Given the description of an element on the screen output the (x, y) to click on. 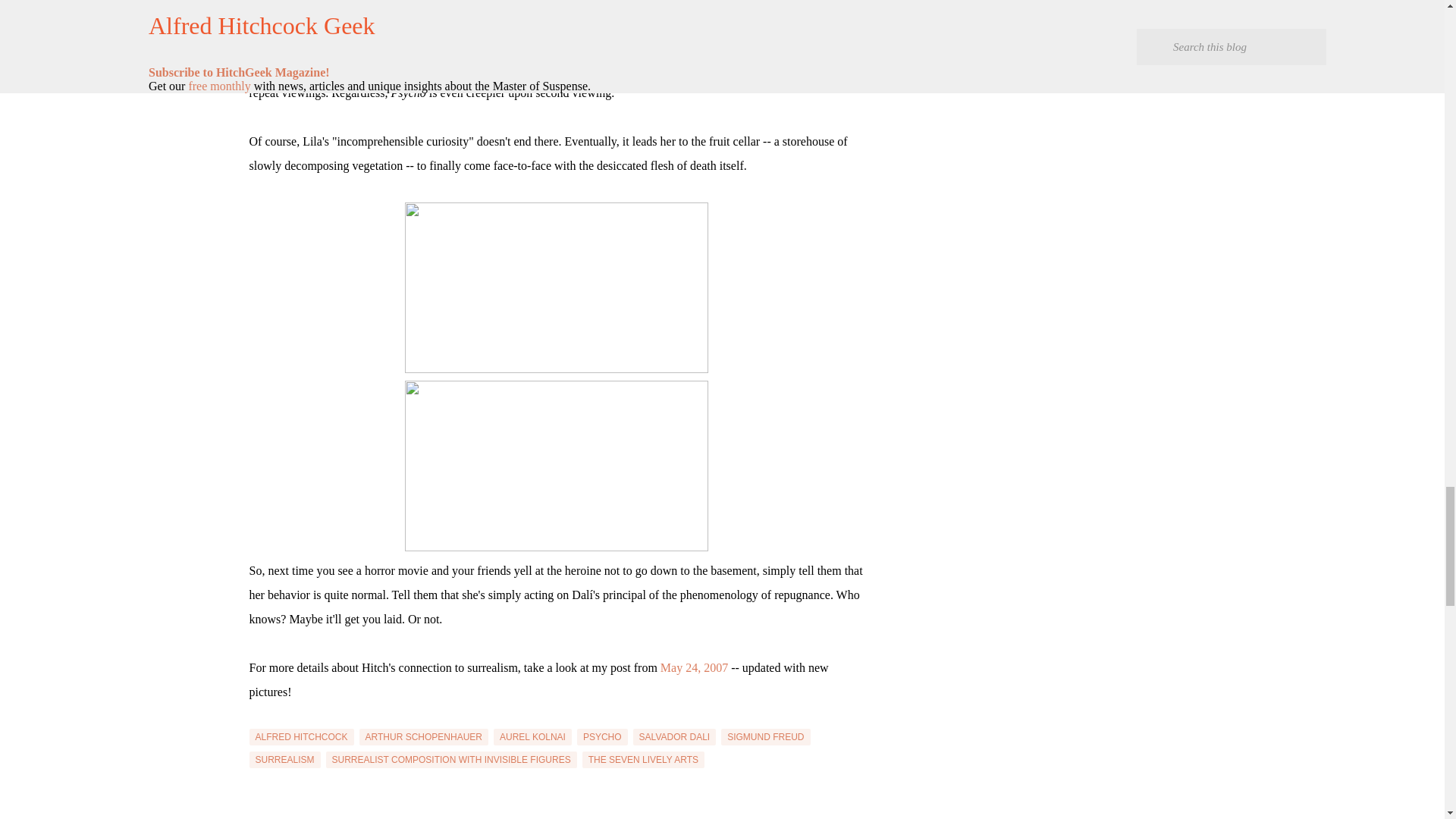
SURREALIST COMPOSITION WITH INVISIBLE FIGURES (451, 759)
SALVADOR DALI (674, 736)
SIGMUND FREUD (764, 736)
May 24, 2007 (694, 667)
PSYCHO (601, 736)
THE SEVEN LIVELY ARTS (643, 759)
SURREALISM (284, 759)
ALFRED HITCHCOCK (300, 736)
ARTHUR SCHOPENHAUER (423, 736)
AUREL KOLNAI (532, 736)
